Given the description of an element on the screen output the (x, y) to click on. 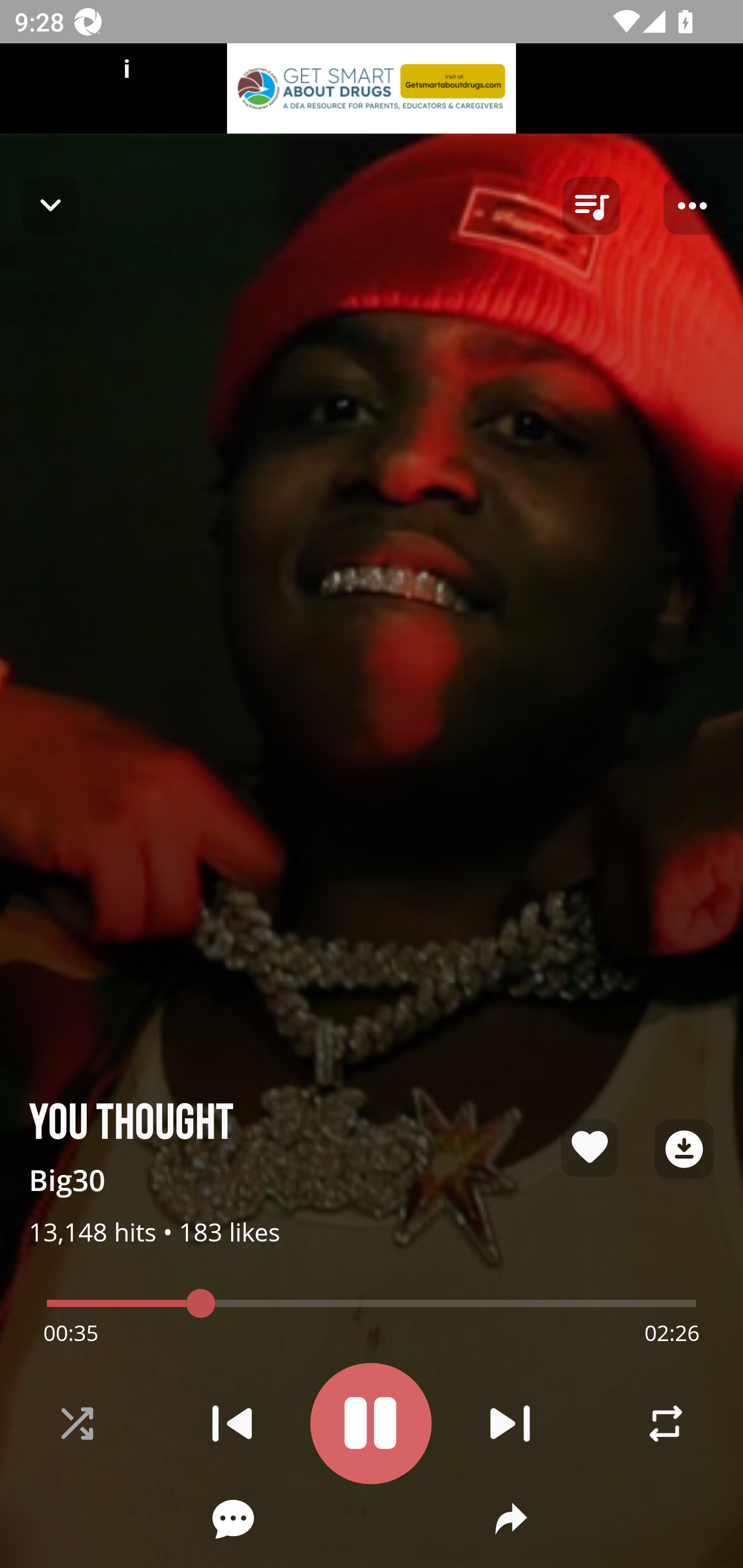
Navigate up (50, 205)
queue (590, 206)
Player options (692, 206)
